Given the description of an element on the screen output the (x, y) to click on. 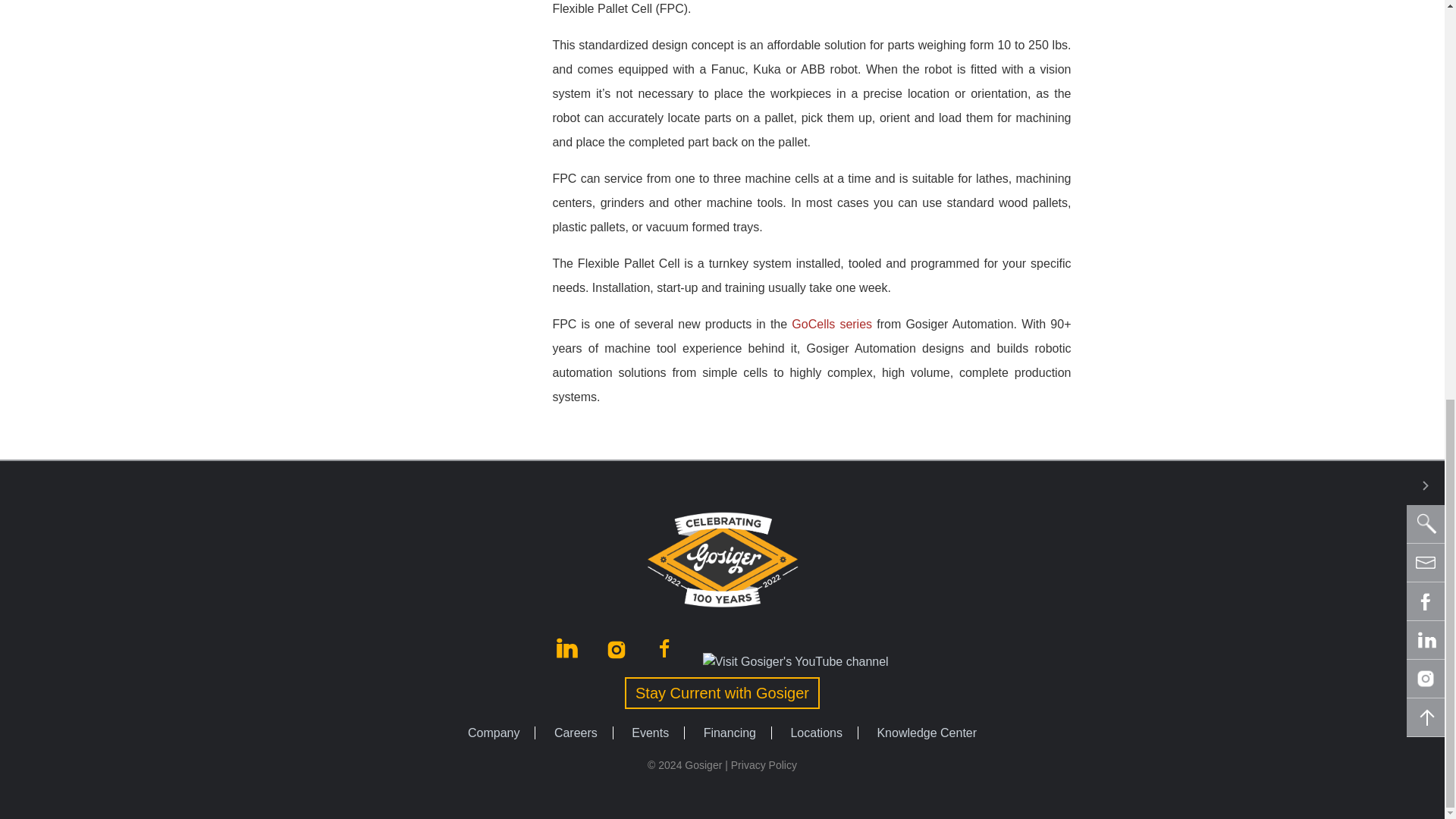
Automation solutions (832, 323)
Gosiger Facebook (666, 661)
Gosiger YouTube (795, 661)
Gosiger Instagram (618, 661)
Stay Current with Gosiger (721, 693)
Gosiger LinkedIn (568, 661)
